Given the description of an element on the screen output the (x, y) to click on. 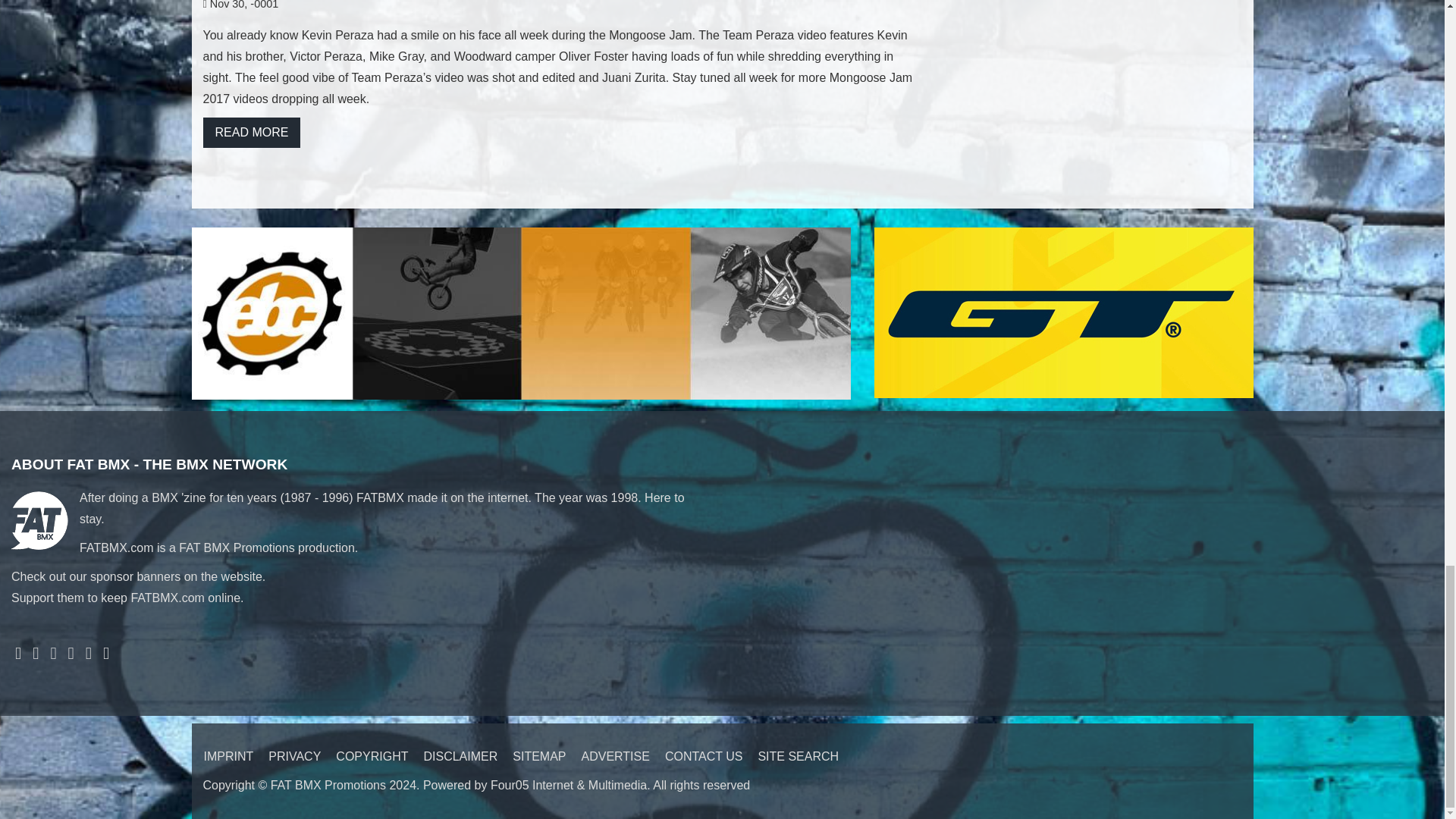
EBC860 (520, 312)
Four05 Internet Oldenzaal (568, 784)
